Given the description of an element on the screen output the (x, y) to click on. 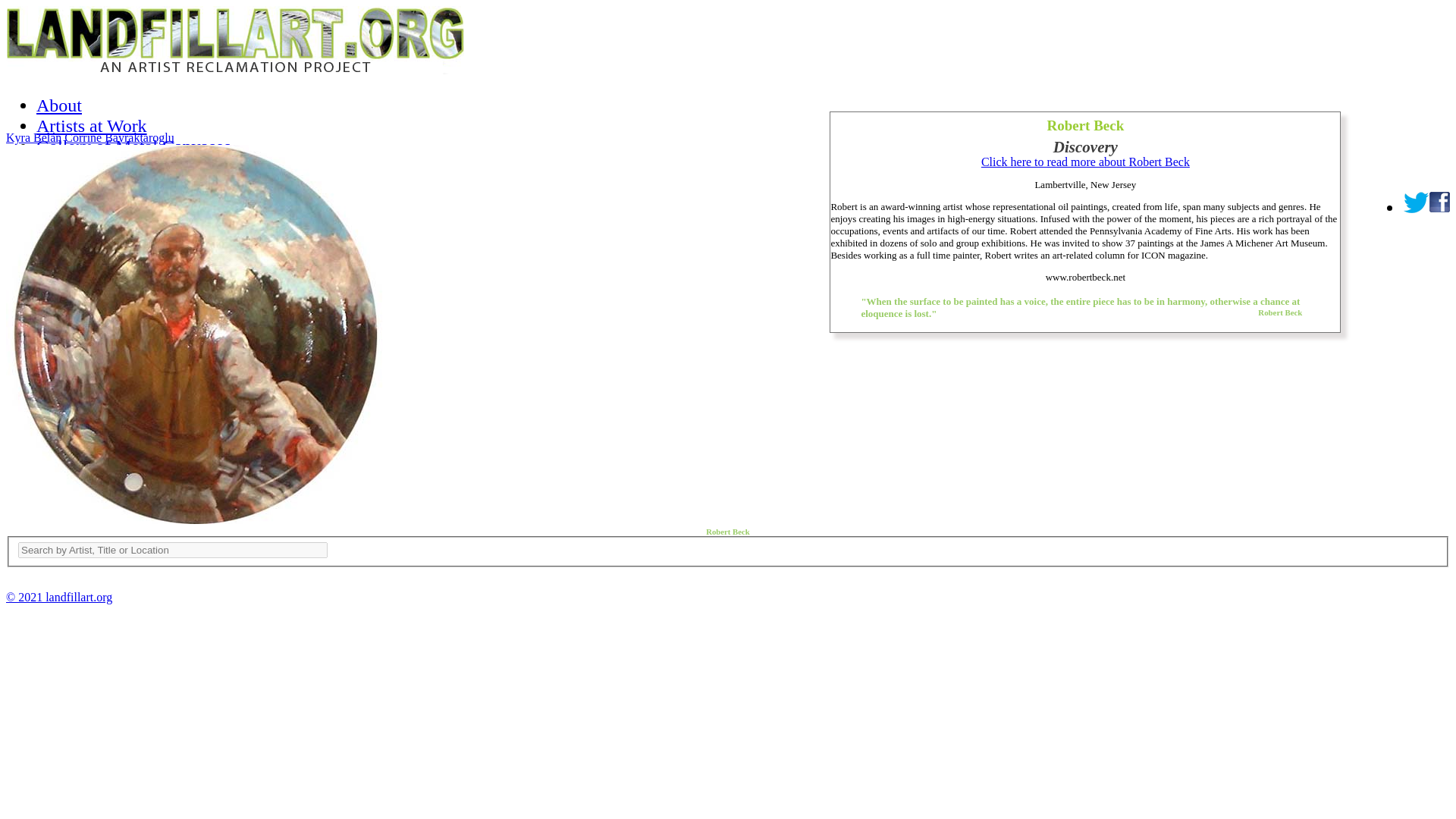
Link To Robert Beck (195, 519)
Gallery of Metal Canvases (133, 146)
About (58, 105)
Artists at Work (91, 125)
LandfillArt (234, 69)
Corrine Bayraktaroglu (118, 137)
Landfillart on Twitter (1416, 202)
Click here to read more about Robert Beck (1085, 161)
